Given the description of an element on the screen output the (x, y) to click on. 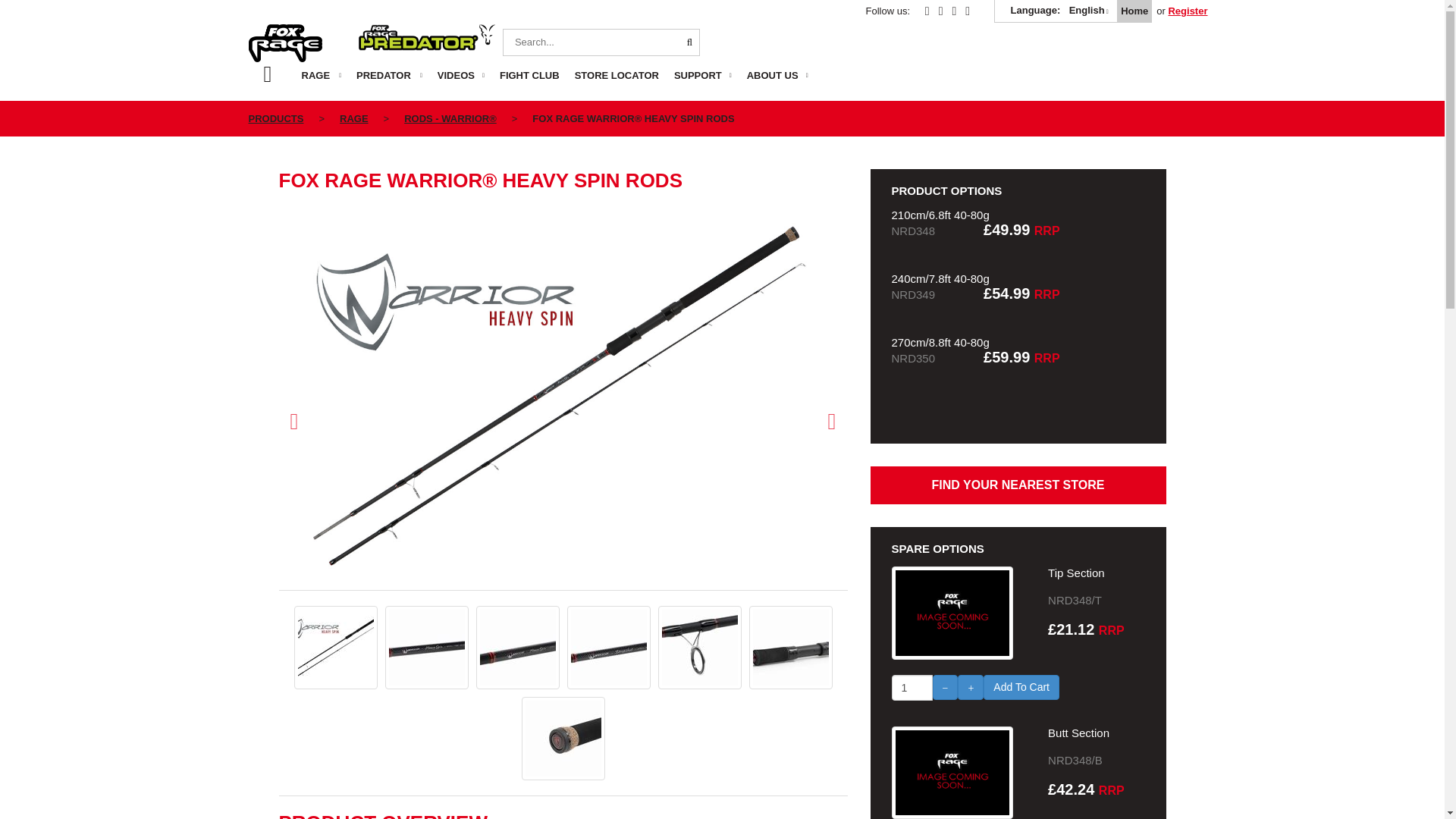
1 (912, 687)
Predator (426, 43)
Register (1187, 10)
Home (1133, 11)
Rage (295, 43)
RAGE (325, 81)
